Given the description of an element on the screen output the (x, y) to click on. 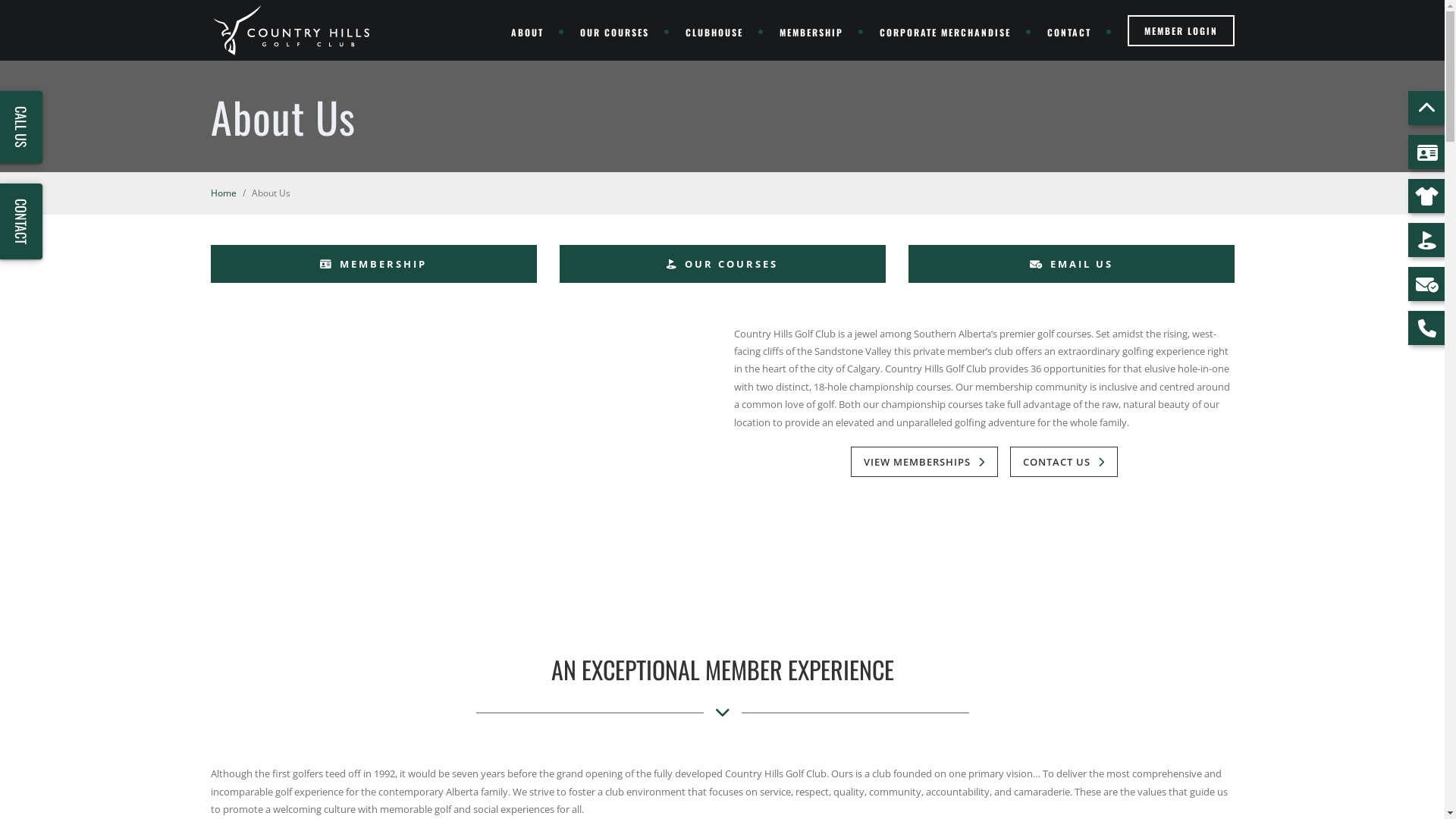
MEMBERSHIP Element type: text (373, 263)
Home Element type: text (223, 192)
MEMBERSHIP Element type: text (814, 32)
CORPORATE MERCHANDISE Element type: text (948, 32)
OUR COURSES Element type: text (616, 32)
CONTACT Element type: text (21, 221)
VIEW MEMBERSHIPS Element type: text (923, 461)
CONTACT Element type: text (1071, 32)
MEMBER LOGIN Element type: text (1179, 30)
OUR COURSES Element type: text (722, 263)
ABOUT Element type: text (529, 32)
CONTACT US Element type: text (1063, 461)
EMAIL US Element type: text (1071, 263)
CLUBHOUSE Element type: text (717, 32)
